Given the description of an element on the screen output the (x, y) to click on. 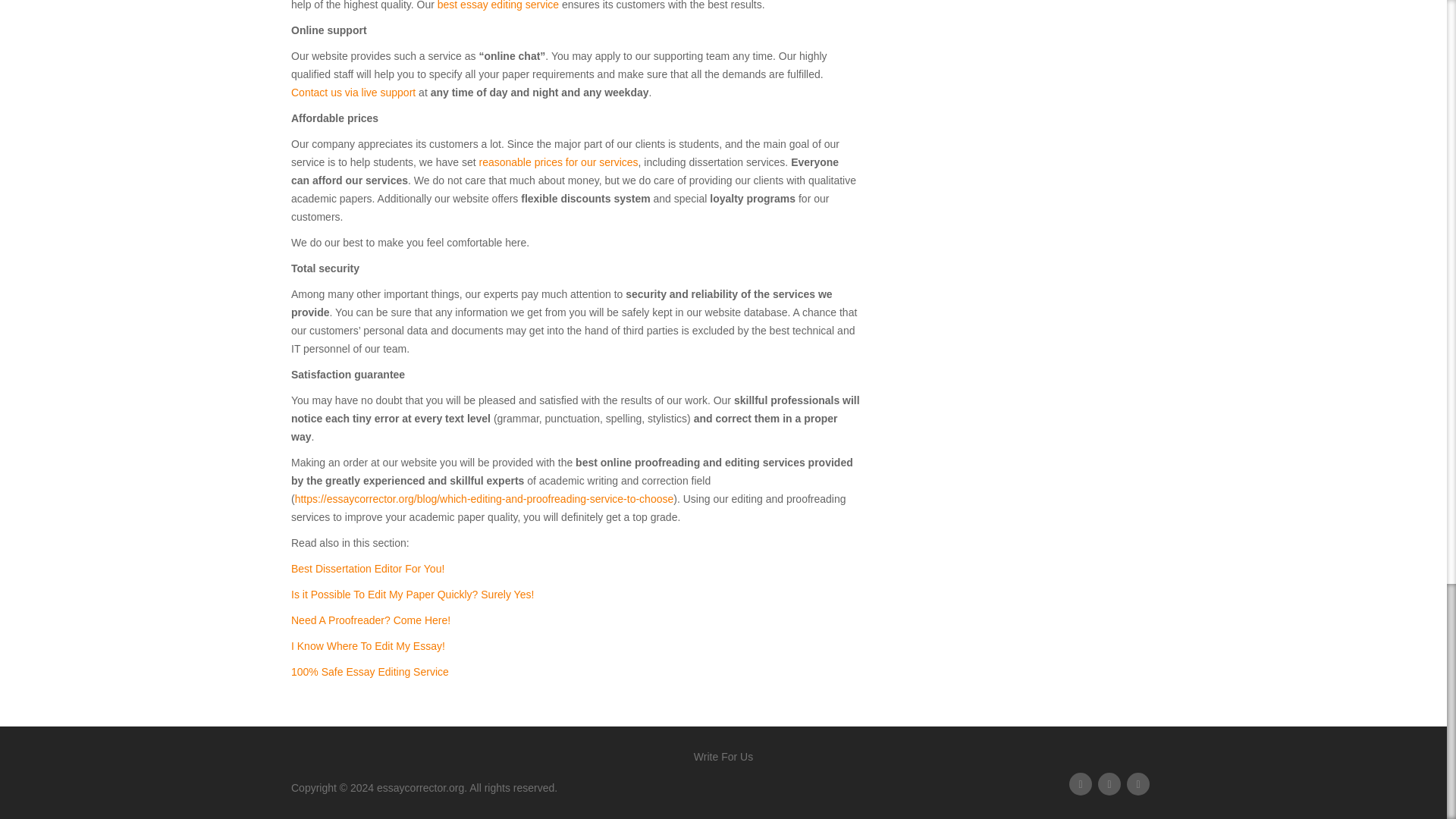
Is it Possible To Edit My Paper Quickly? Surely Yes! (412, 594)
reasonable prices for our services (558, 162)
Best Dissertation Editor For You! (367, 568)
Write For Us (723, 756)
I Know Where To Edit My Essay! (368, 645)
Contact us via live support (352, 92)
best essay editing service (498, 5)
essaycorrector.org (420, 787)
Need A Proofreader? Come Here! (370, 620)
